Given the description of an element on the screen output the (x, y) to click on. 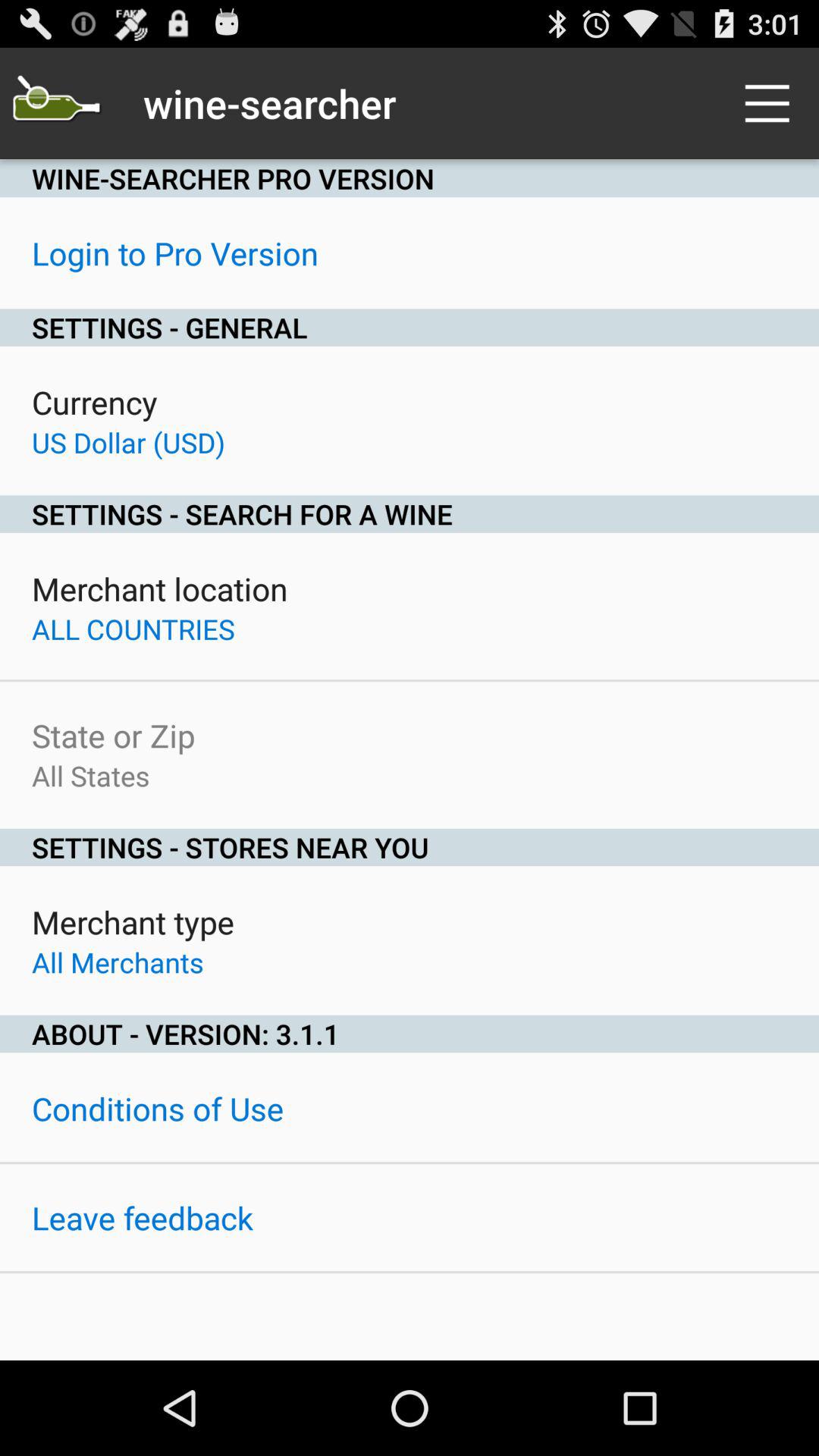
click the us dollar (usd) item (128, 442)
